Given the description of an element on the screen output the (x, y) to click on. 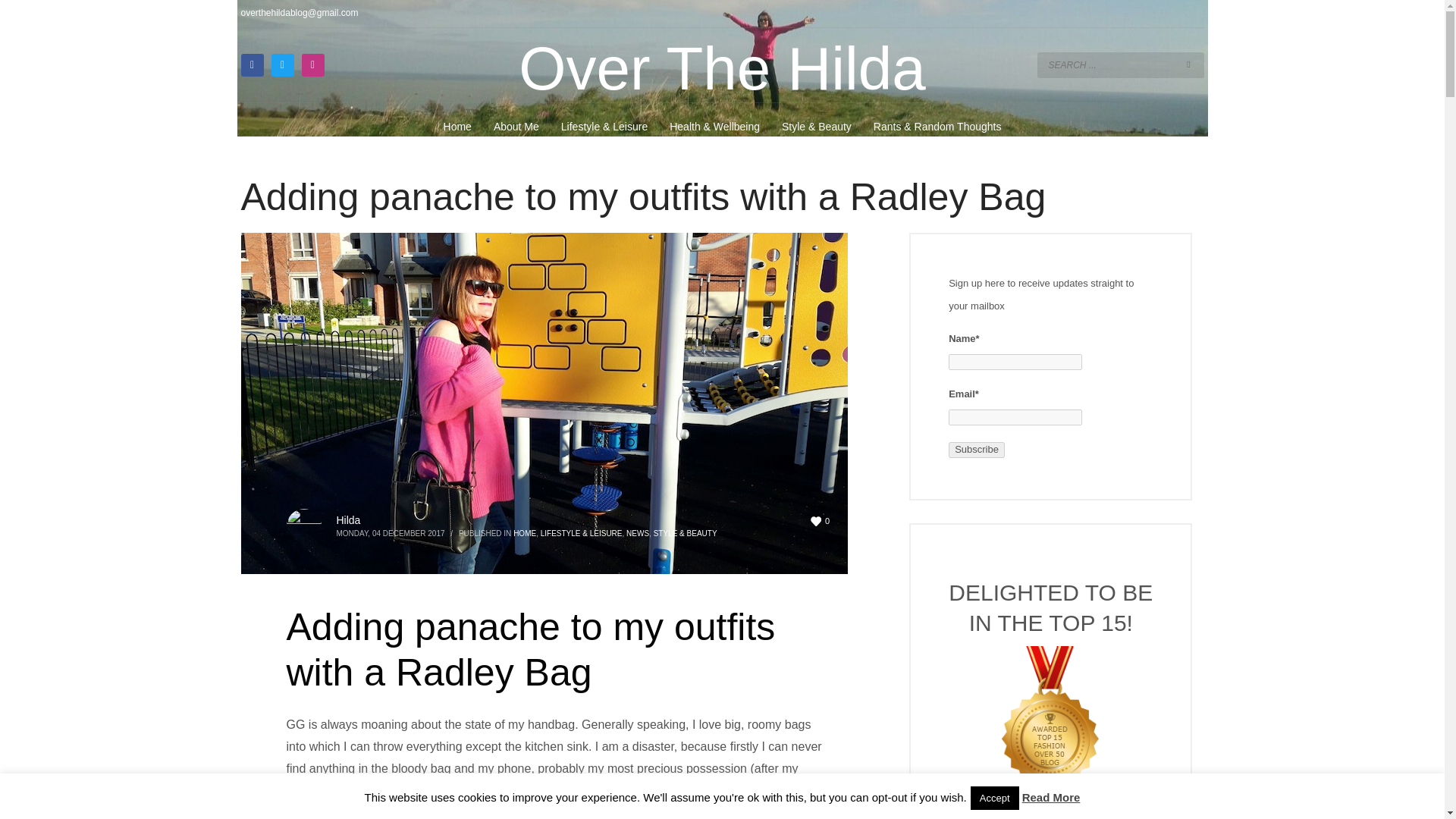
Subscribe (976, 449)
Fashion Over 50 blogs (1051, 727)
Posts by Hilda (348, 520)
HOME (524, 533)
inst (312, 65)
fb (252, 65)
About Me (516, 126)
tw (282, 65)
Home (456, 126)
